Given the description of an element on the screen output the (x, y) to click on. 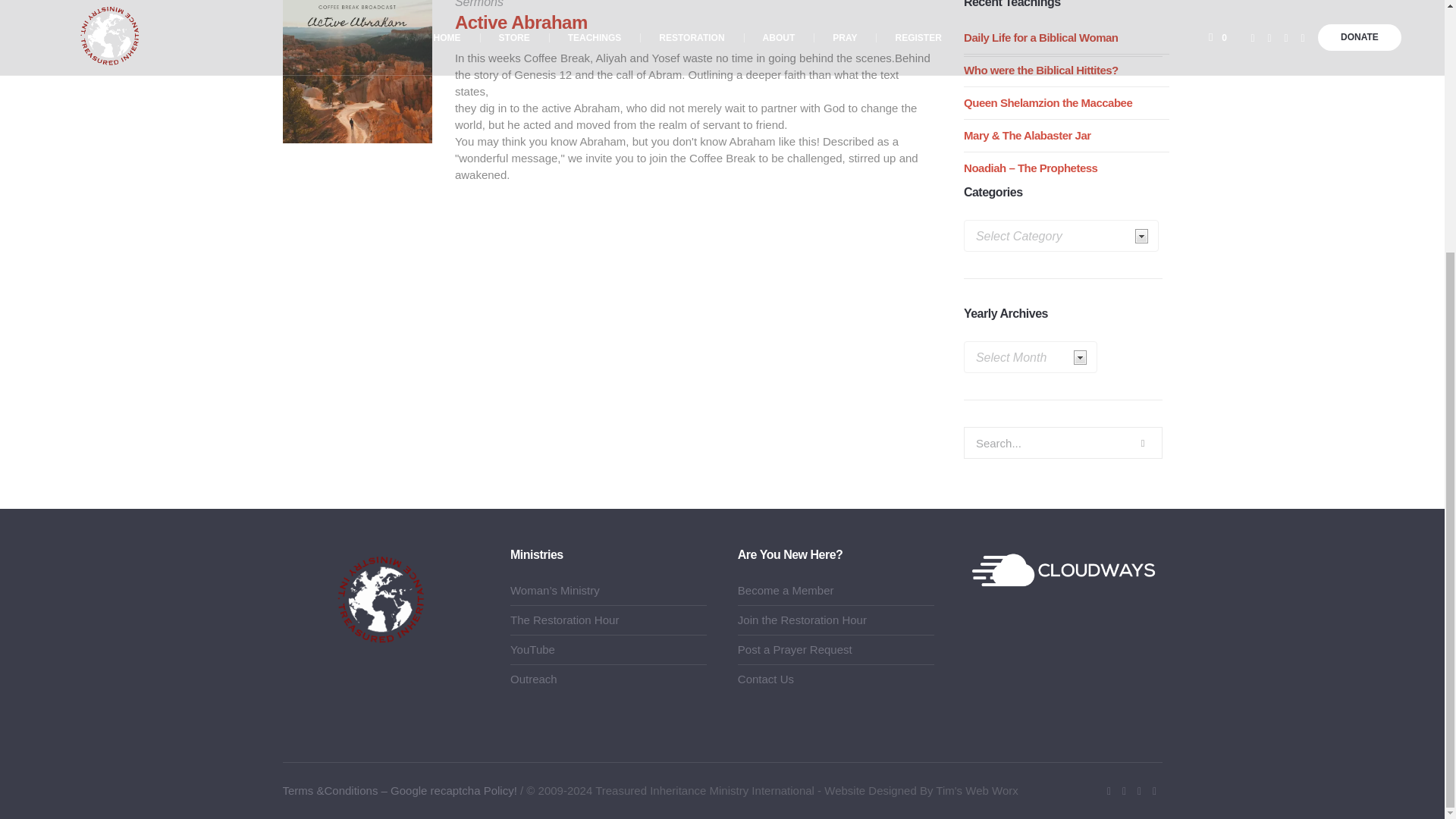
Daily Life for a Biblical Woman (1040, 37)
Active Abraham (521, 22)
Who were the Biblical Hittites? (1040, 69)
Active Abraham (356, 71)
Queen Shelamzion the Maccabee (1047, 102)
